Given the description of an element on the screen output the (x, y) to click on. 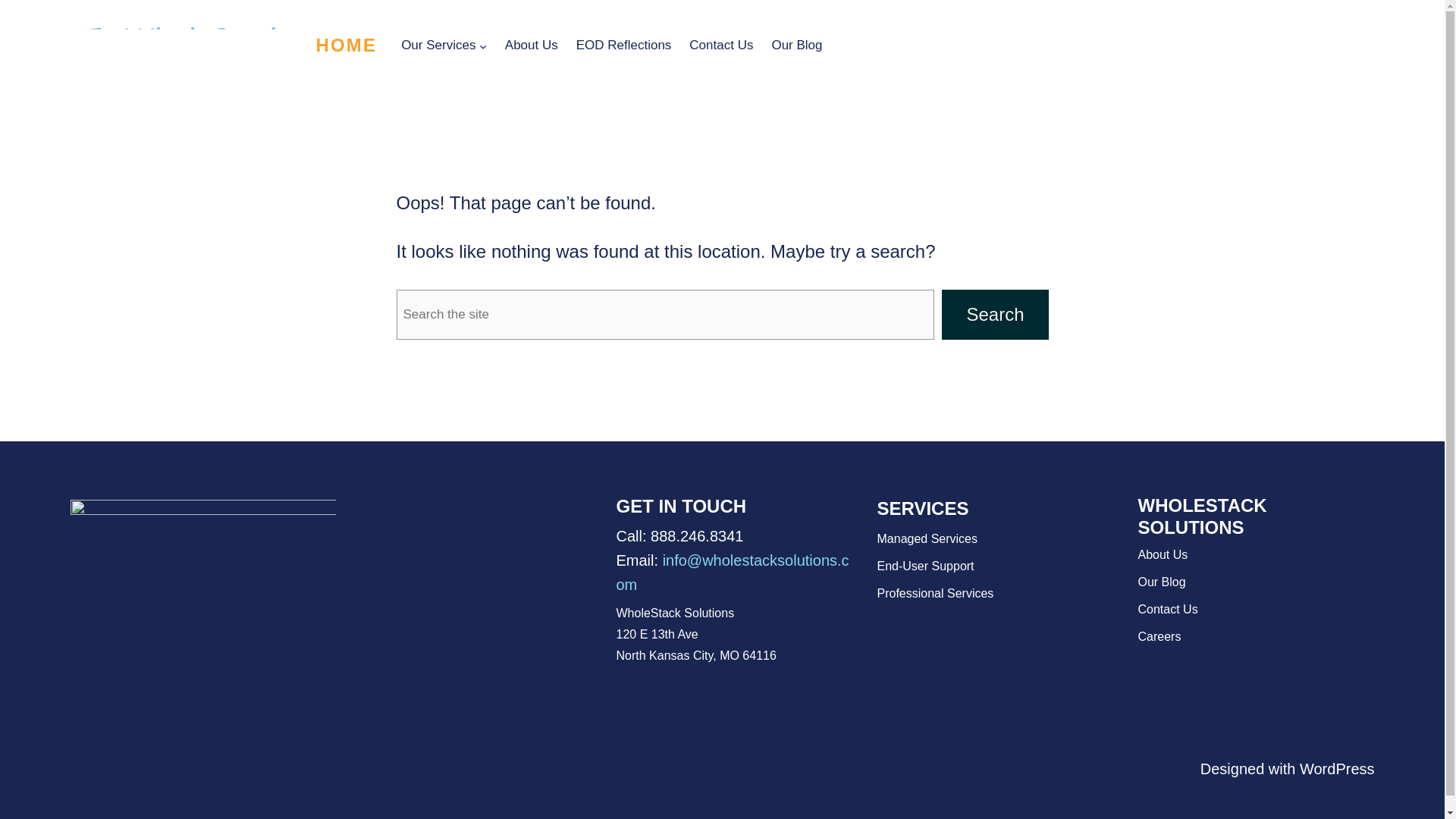
WordPress (1337, 768)
Search (995, 314)
Contact Us (720, 45)
Contact Us (1166, 608)
Our Services (438, 45)
End-User Support (925, 565)
Careers (1158, 635)
HOME (346, 45)
About Us (531, 45)
EOD Reflections (623, 45)
